Given the description of an element on the screen output the (x, y) to click on. 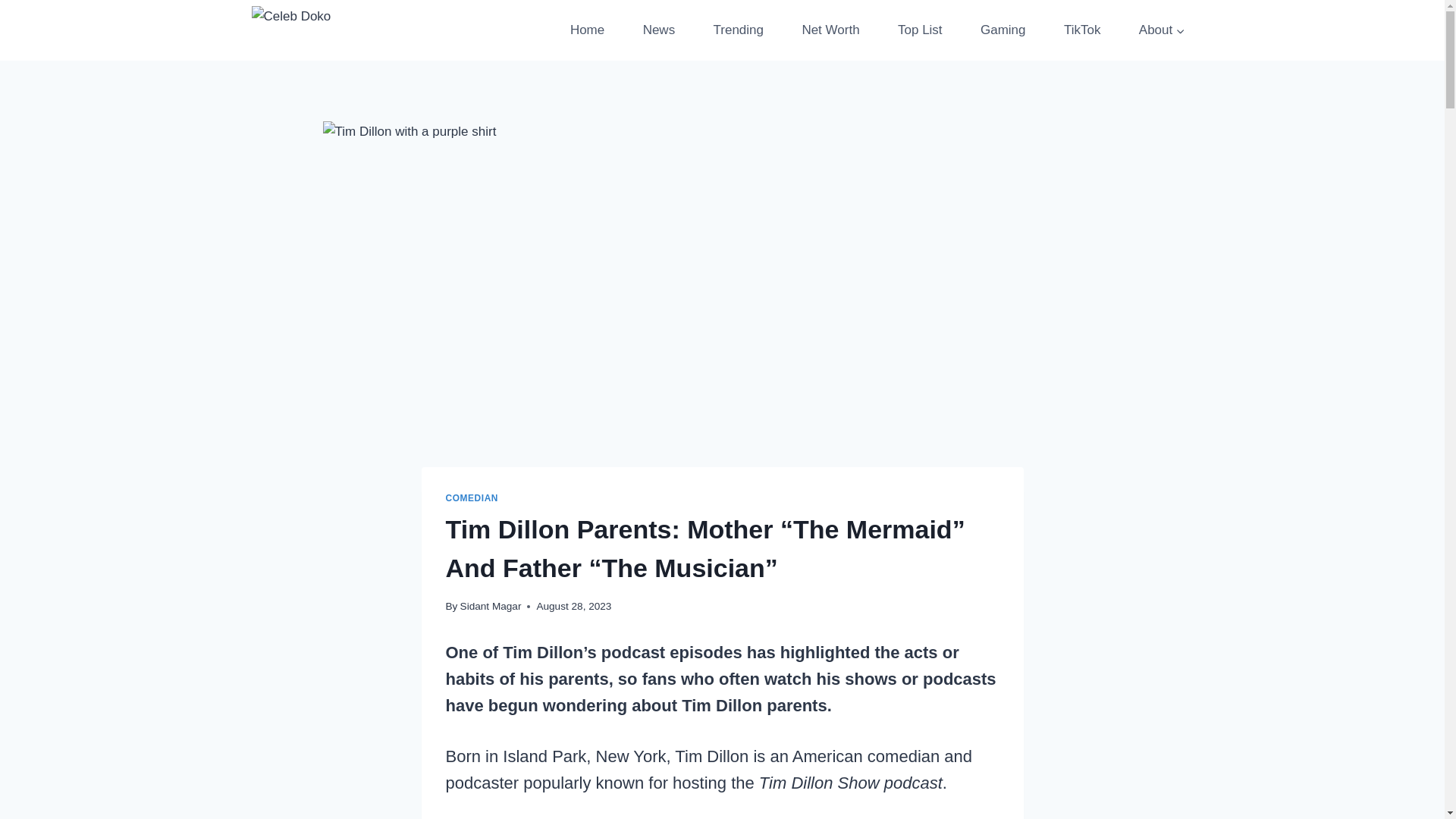
Trending (737, 30)
COMEDIAN (472, 498)
Gaming (1002, 30)
Top List (919, 30)
TikTok (1082, 30)
Net Worth (830, 30)
News (658, 30)
About (1162, 30)
Home (587, 30)
